Given the description of an element on the screen output the (x, y) to click on. 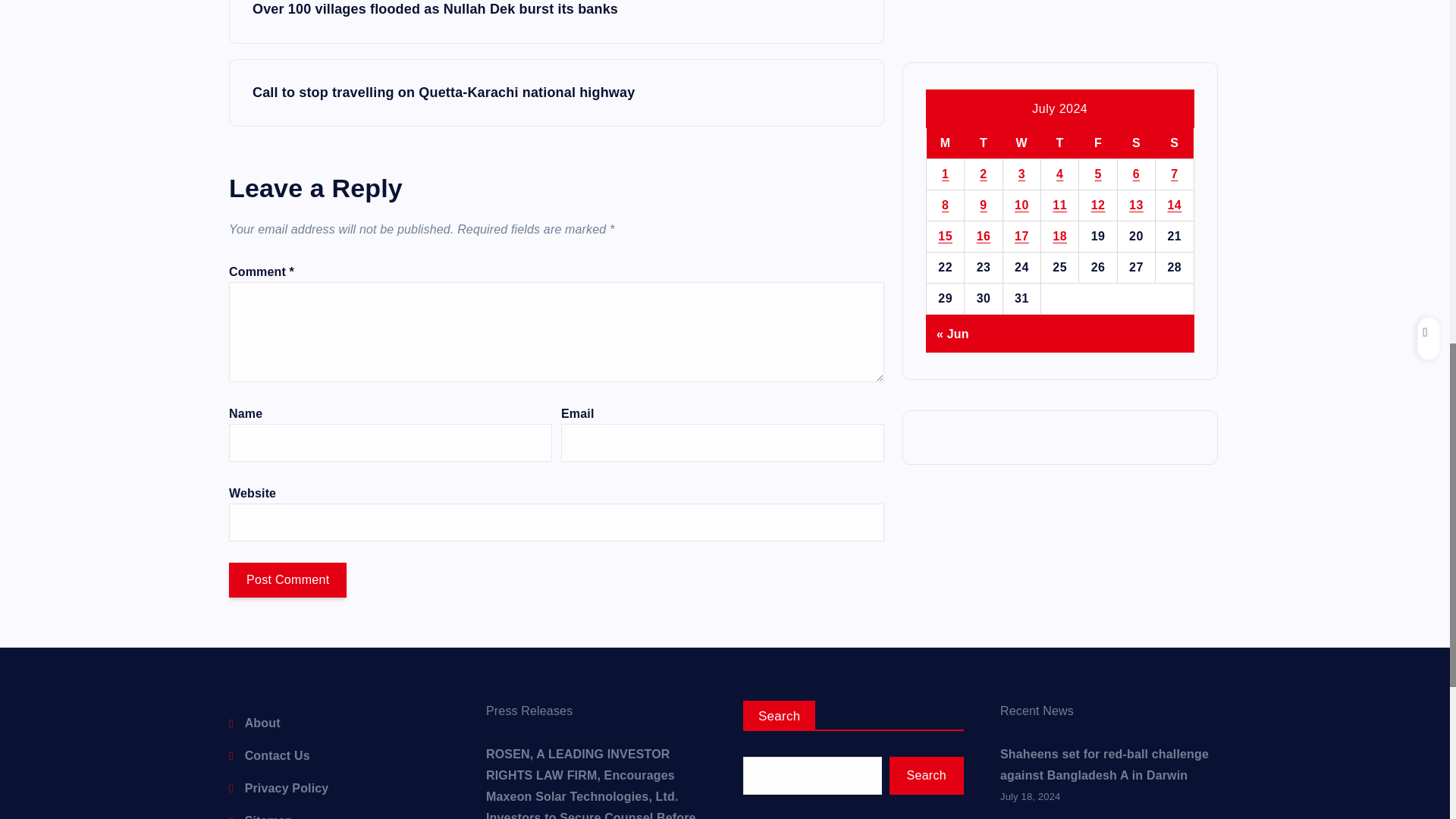
Post Comment (287, 579)
